Given the description of an element on the screen output the (x, y) to click on. 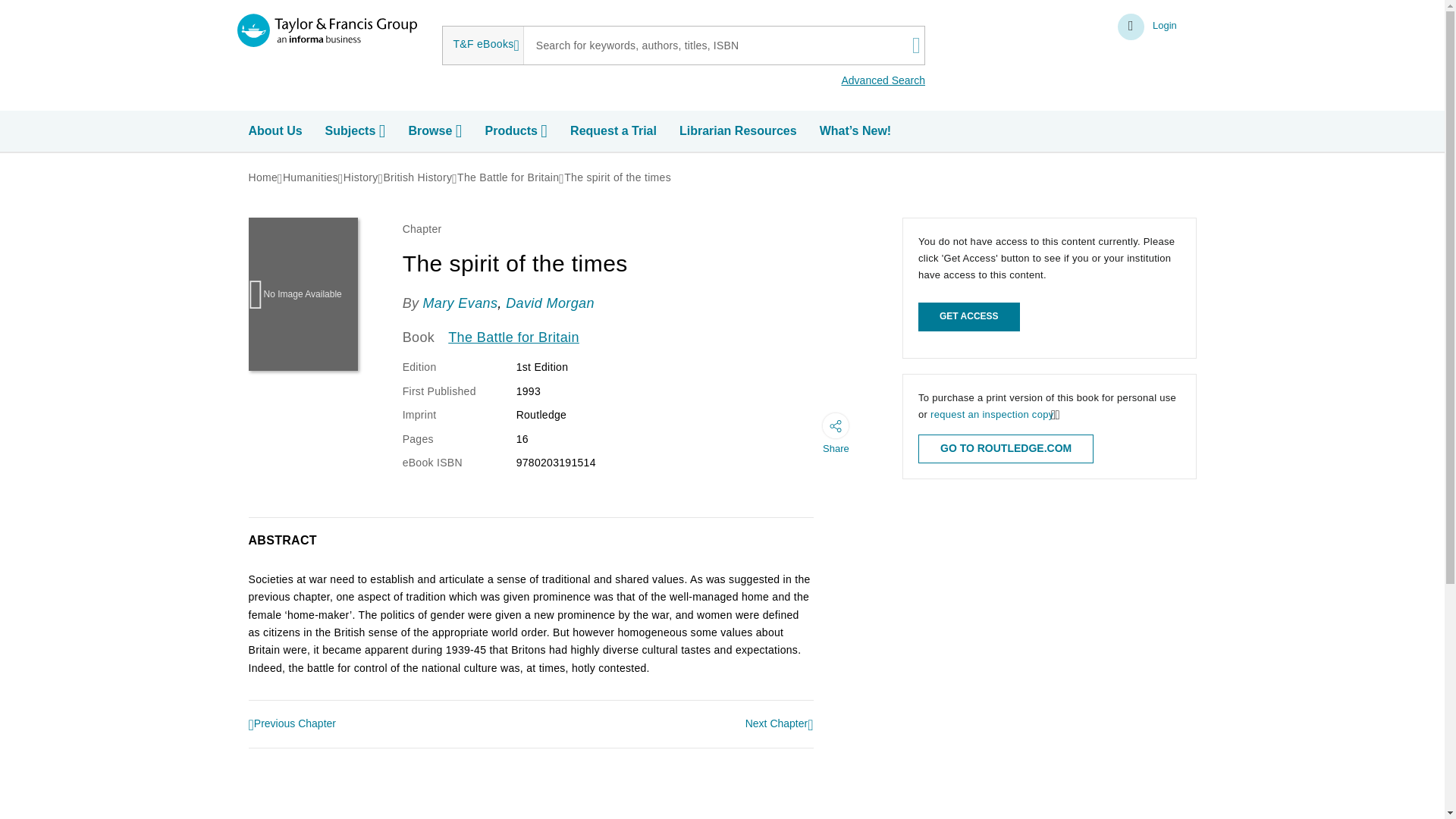
Librarian Resources (739, 130)
Request a Trial (615, 130)
Previous Chapter (292, 724)
David Morgan (549, 303)
The Battle for Britain (508, 177)
Subjects (357, 130)
Products (517, 130)
Humanities (309, 177)
Request a Trial (615, 130)
Librarian Resources (739, 130)
Browse (437, 130)
Keeping the home fires burning (292, 724)
Subjects (357, 130)
The spirit of the times (617, 177)
request an inspection copy (991, 414)
